Given the description of an element on the screen output the (x, y) to click on. 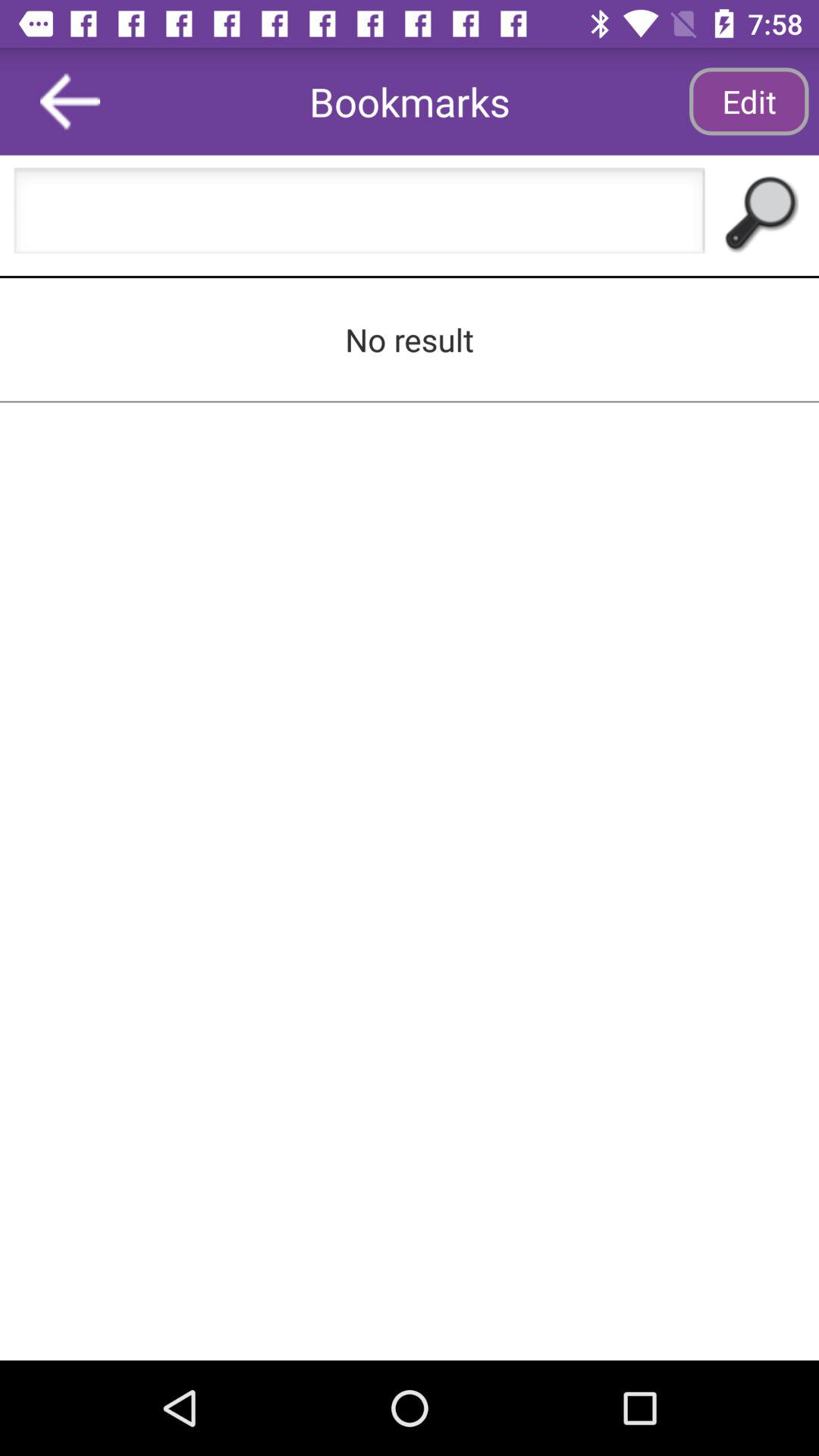
search bar (359, 215)
